Given the description of an element on the screen output the (x, y) to click on. 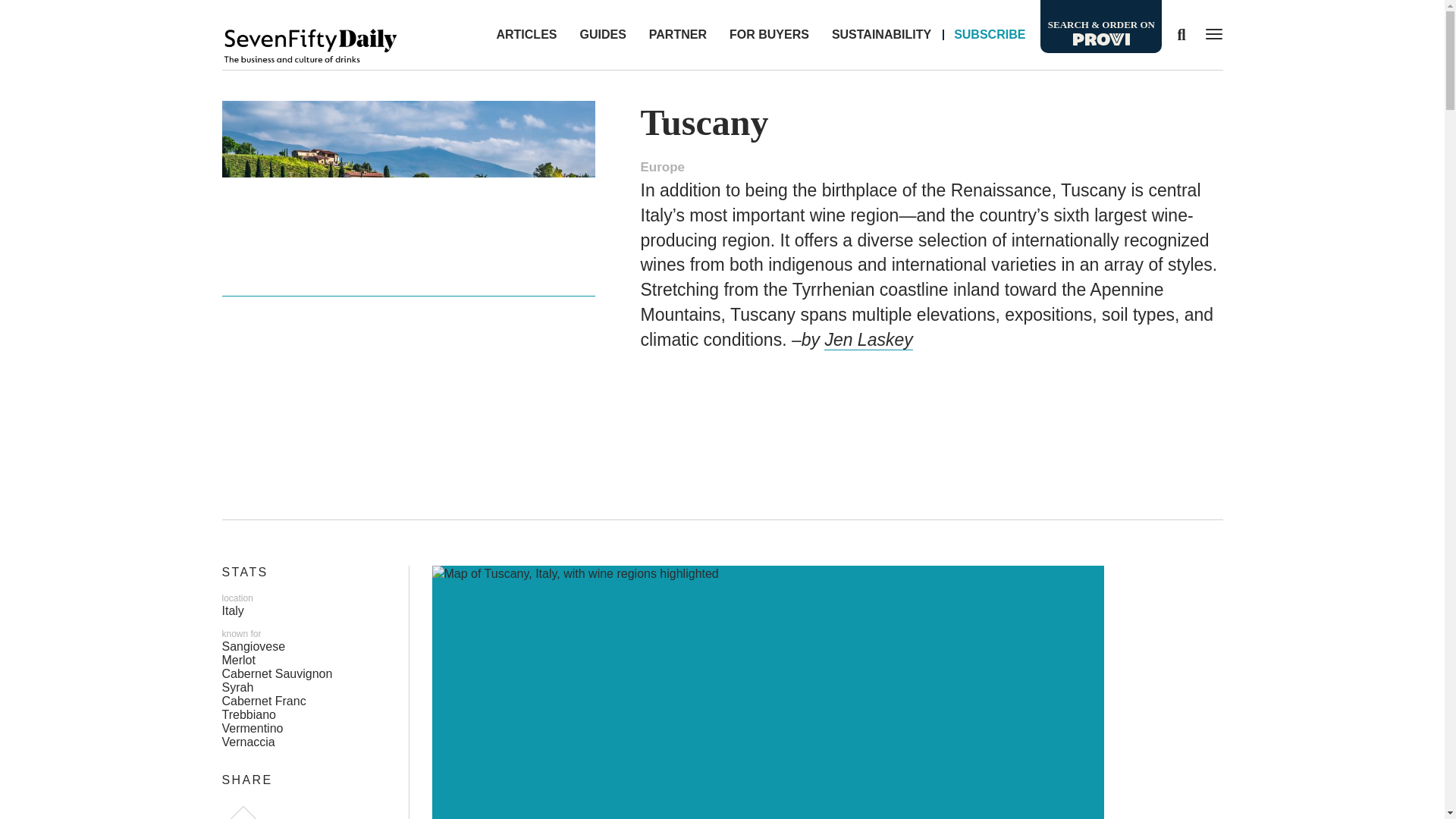
FOR BUYERS (769, 34)
Toggle Menu (1209, 33)
For Buyers (769, 34)
GUIDES (602, 34)
SUSTAINABILITY (881, 34)
ARTICLES (525, 34)
Guides (602, 34)
Subscribe (989, 34)
Partner (677, 34)
SUBSCRIBE (989, 34)
SUSTAINABILITY (881, 34)
PARTNER (677, 34)
Articles (525, 34)
